Given the description of an element on the screen output the (x, y) to click on. 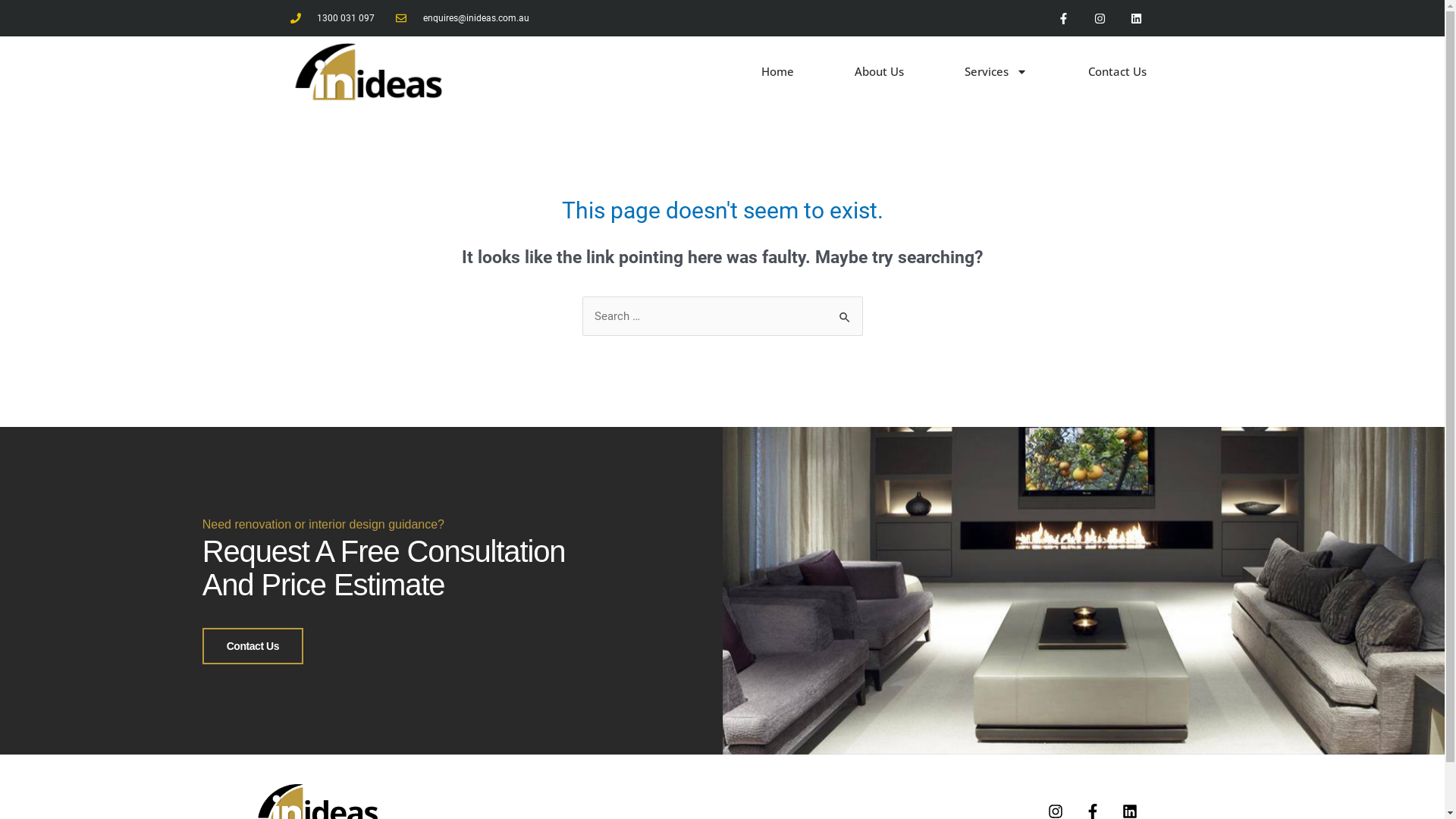
Contact Us Element type: text (1116, 71)
Search Element type: text (845, 311)
Services Element type: text (995, 71)
Contact Us Element type: text (252, 645)
About Us Element type: text (879, 71)
Home Element type: text (777, 71)
